Given the description of an element on the screen output the (x, y) to click on. 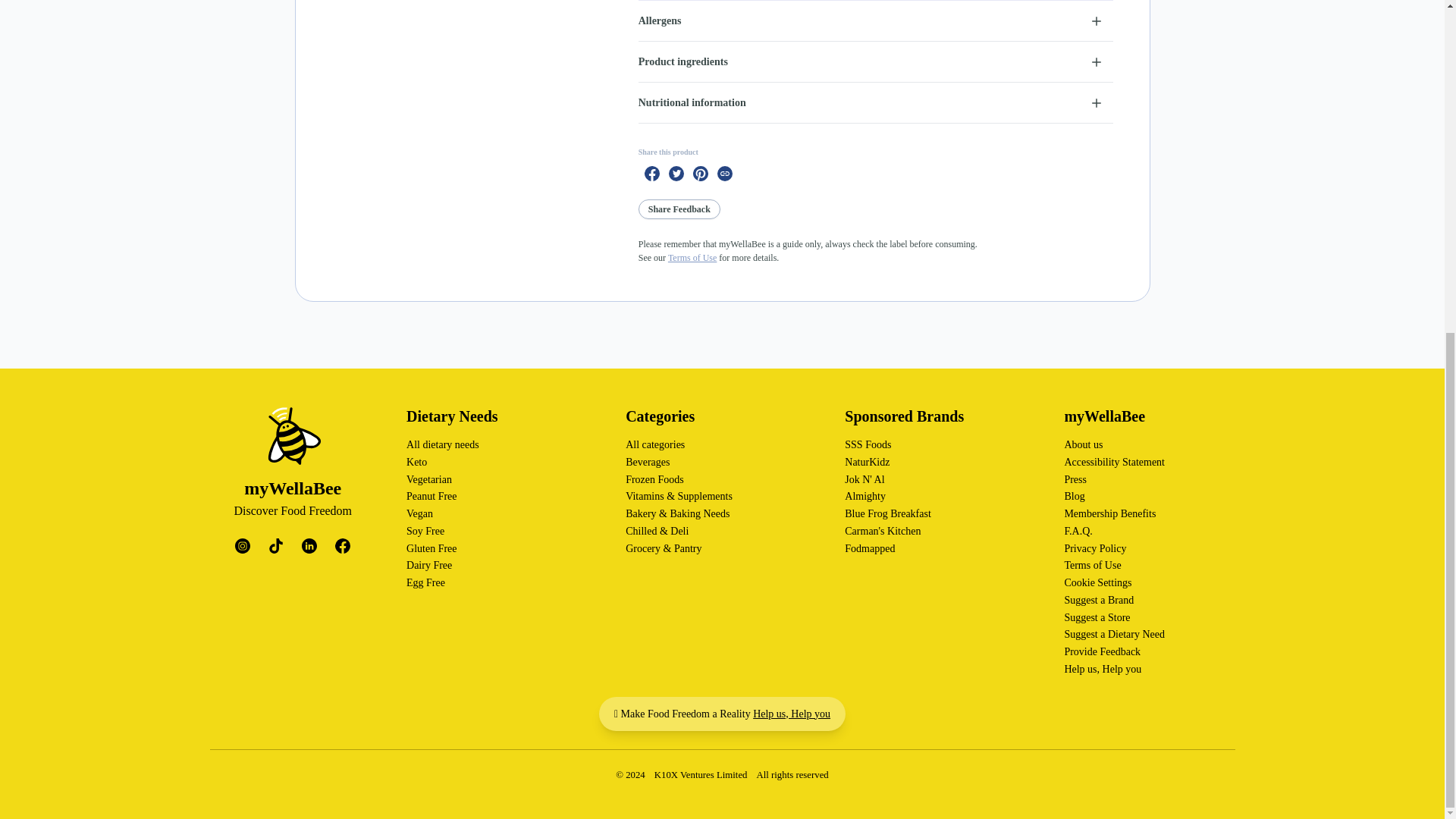
Terms of Use (692, 257)
Egg Free (425, 582)
All dietary needs (442, 444)
Vegan (419, 513)
Peanut Free (431, 496)
Dairy Free (428, 564)
Keto (416, 461)
Share Feedback (679, 209)
Gluten Free (431, 547)
Vegetarian (428, 479)
Soy Free (425, 531)
